Given the description of an element on the screen output the (x, y) to click on. 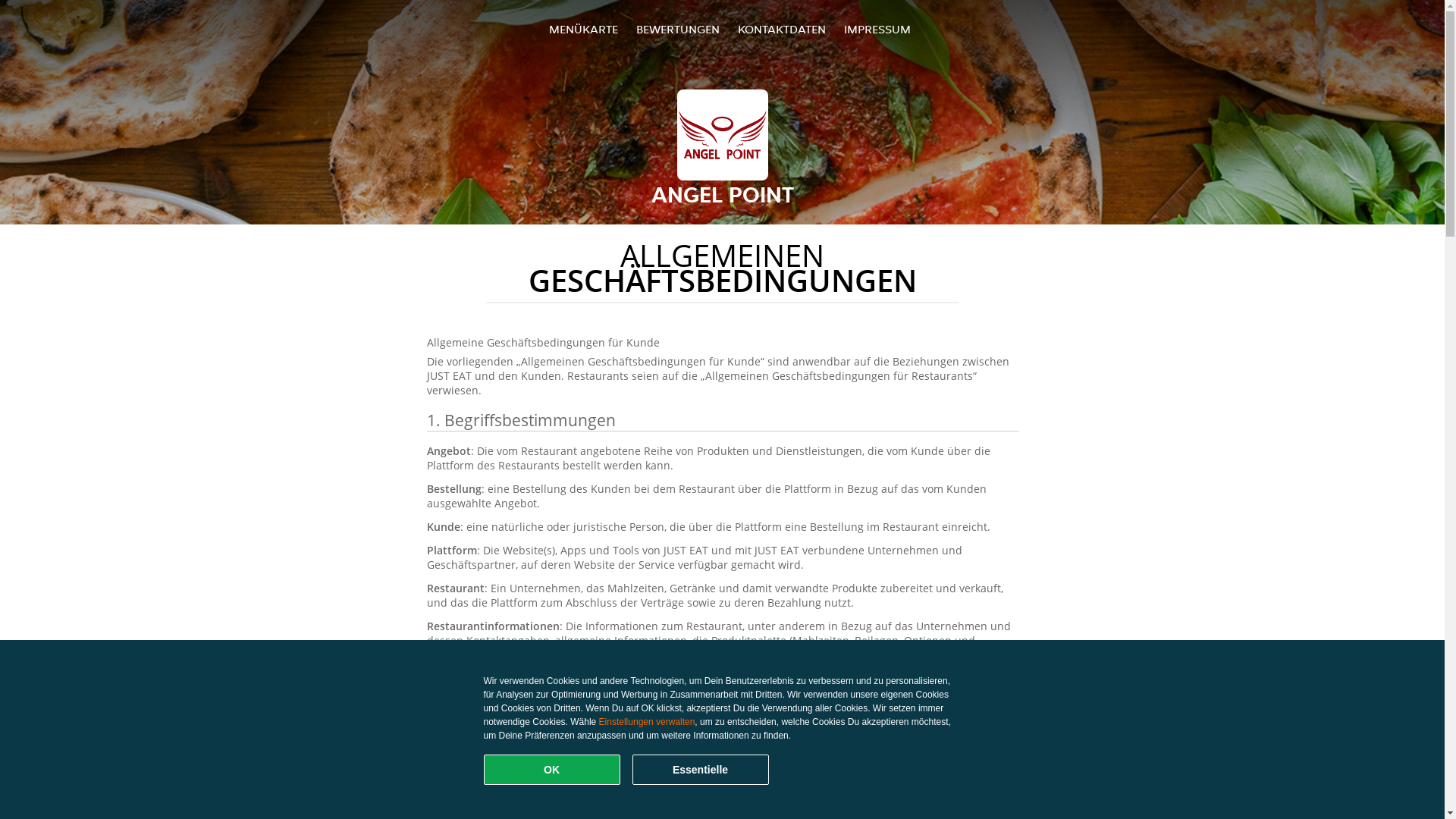
IMPRESSUM Element type: text (877, 29)
BEWERTUNGEN Element type: text (677, 29)
Essentielle Element type: text (700, 769)
Einstellungen verwalten Element type: text (647, 721)
KONTAKTDATEN Element type: text (781, 29)
OK Element type: text (551, 769)
